Given the description of an element on the screen output the (x, y) to click on. 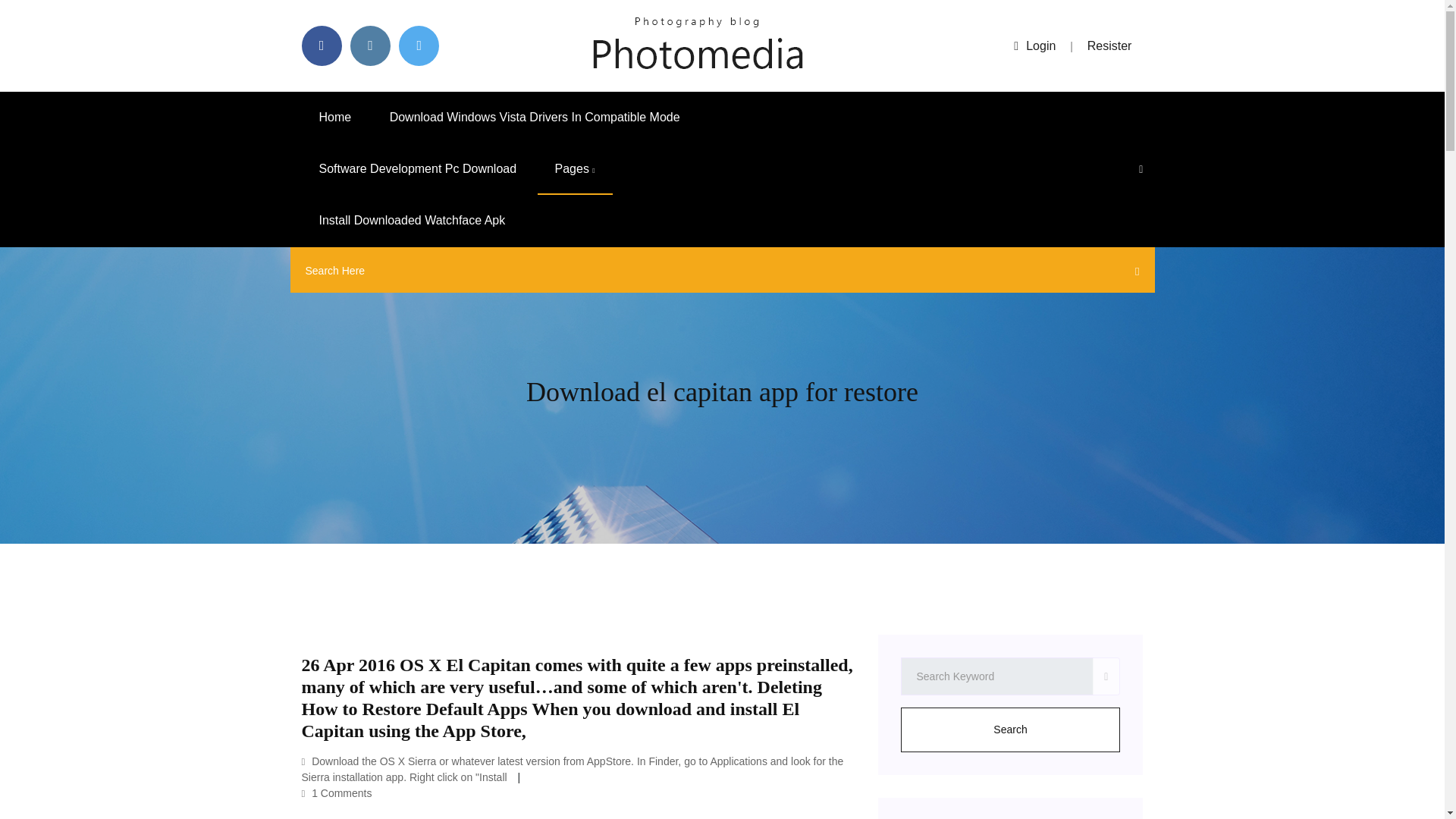
Home (335, 117)
Software Development Pc Download (417, 168)
1 Comments (336, 793)
Pages (574, 168)
Resister (1109, 45)
Login (1034, 45)
Install Downloaded Watchface Apk (411, 220)
Download Windows Vista Drivers In Compatible Mode (534, 117)
